Given the description of an element on the screen output the (x, y) to click on. 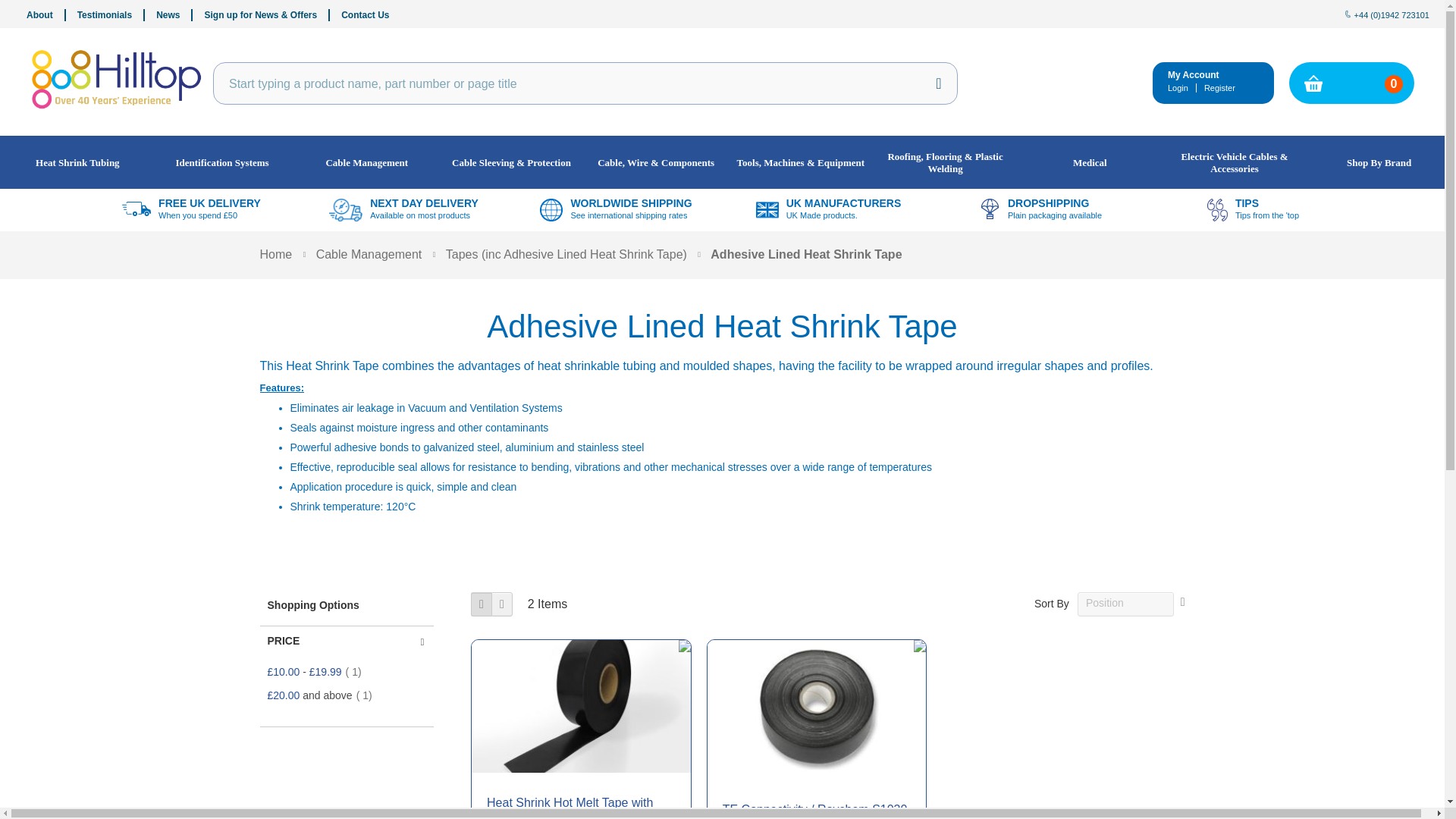
Go to Home Page (275, 254)
Contact Us (364, 15)
News (173, 15)
Set Descending Direction (1182, 601)
About (45, 15)
List (502, 604)
Testimonials (110, 15)
Search (939, 83)
Grid (481, 604)
